Given the description of an element on the screen output the (x, y) to click on. 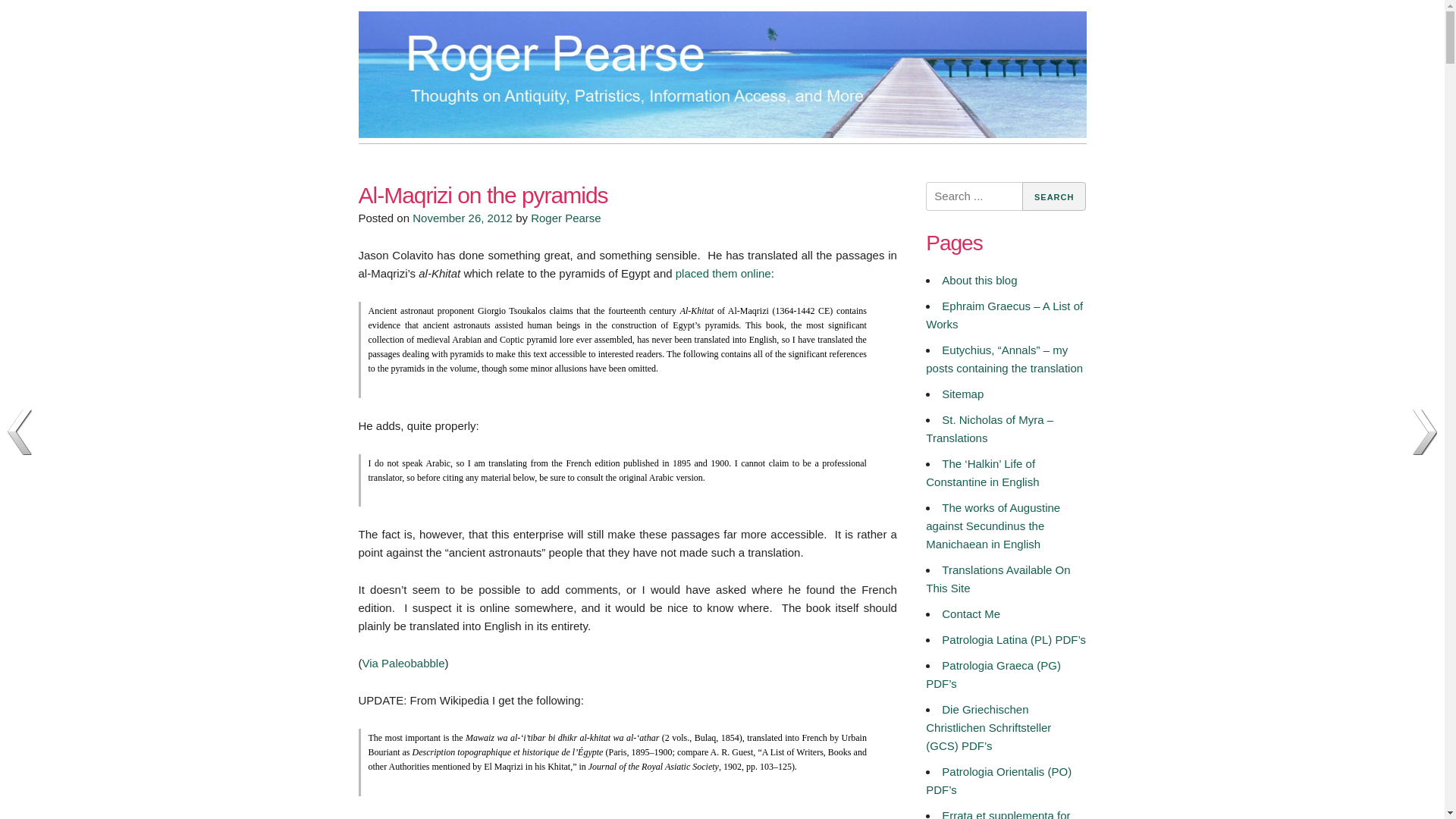
Search (1054, 195)
placed them online (723, 273)
Search (1054, 195)
here (520, 818)
Via Paleobabble (403, 662)
November 26, 2012 (462, 217)
Roger Pearse (566, 217)
Search (1054, 195)
Roger Pearse (423, 164)
About this blog (979, 279)
